Given the description of an element on the screen output the (x, y) to click on. 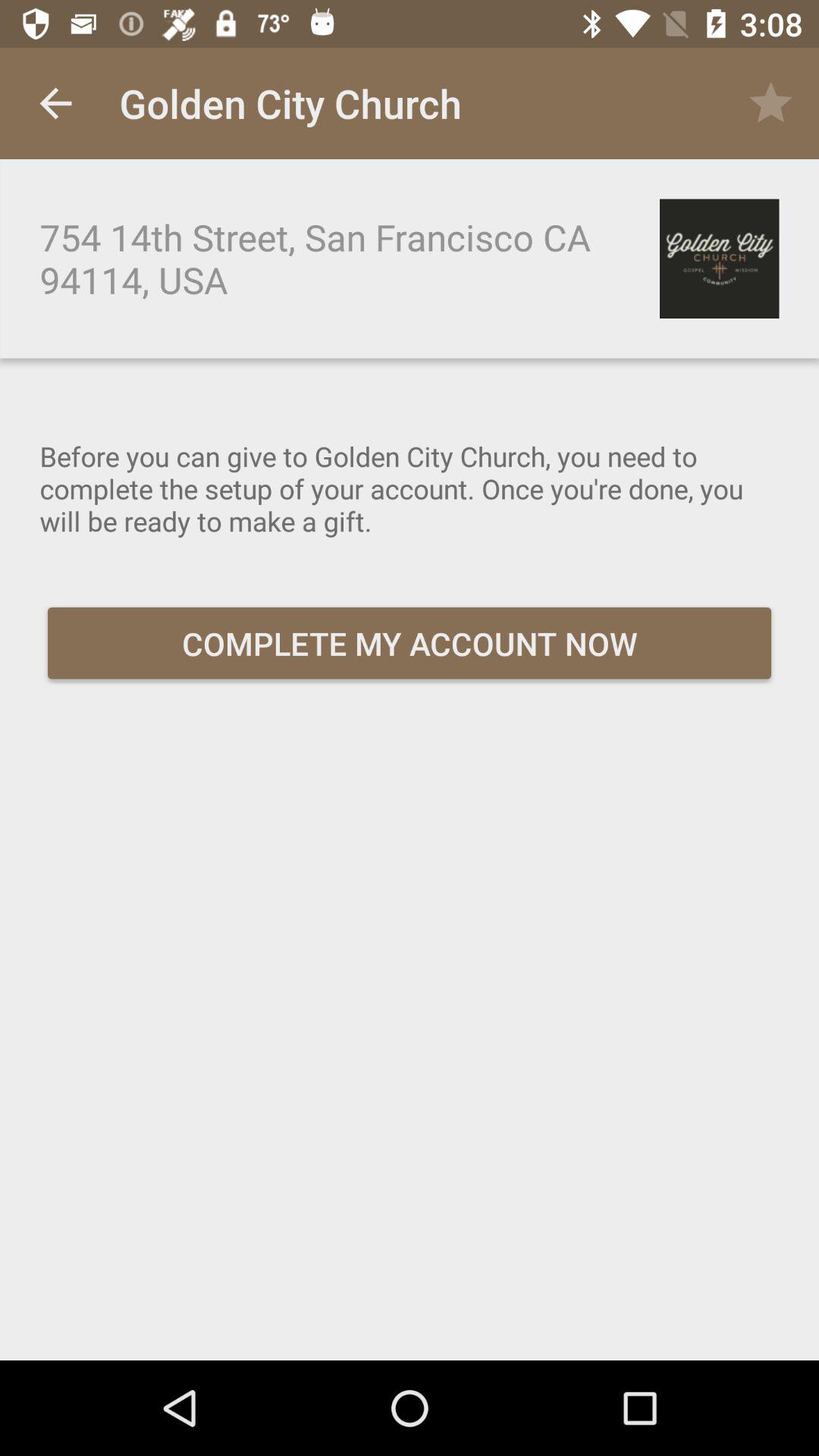
press icon next to golden city church icon (771, 103)
